Given the description of an element on the screen output the (x, y) to click on. 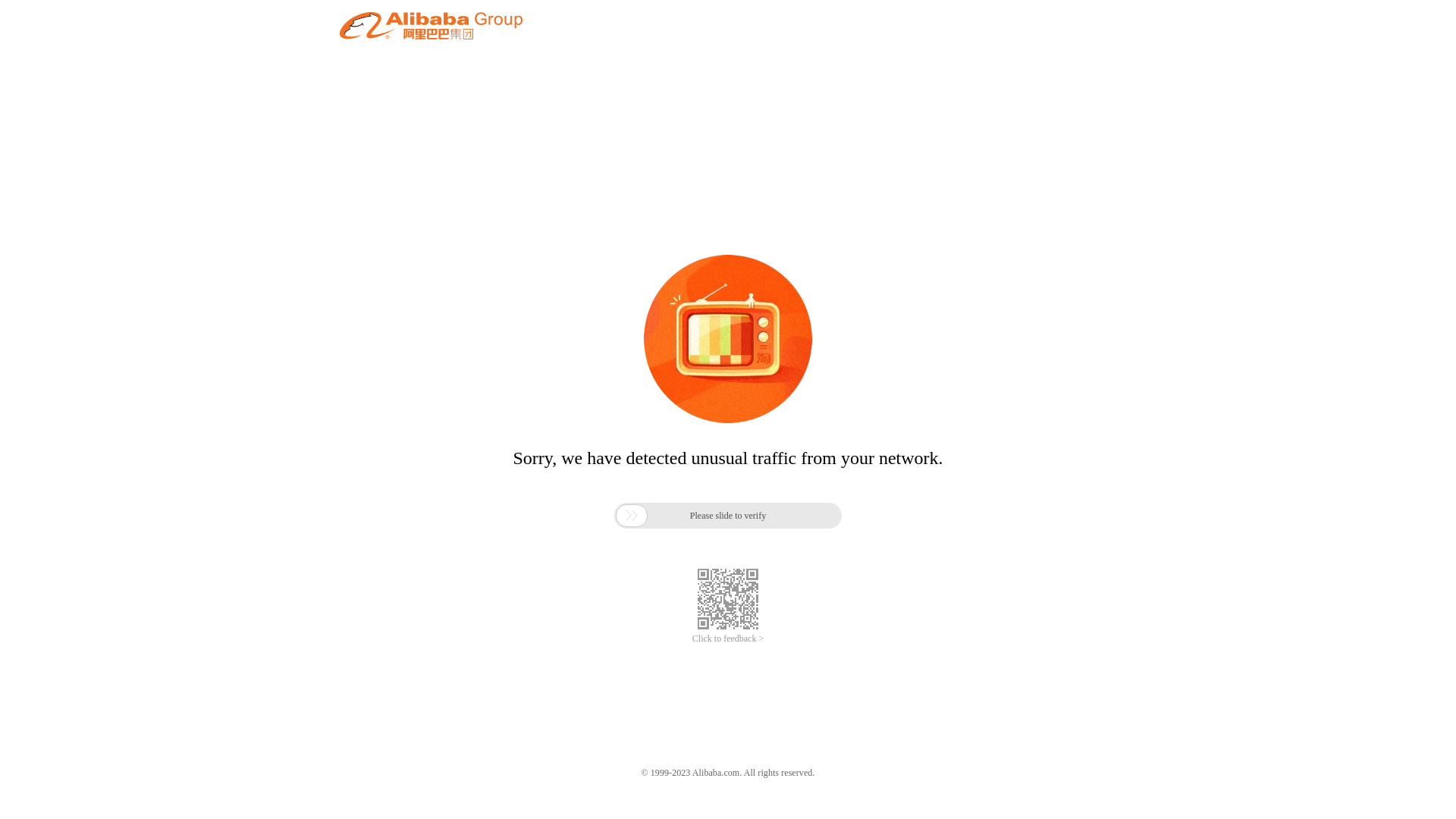
Click to feedback > Element type: text (727, 638)
